Given the description of an element on the screen output the (x, y) to click on. 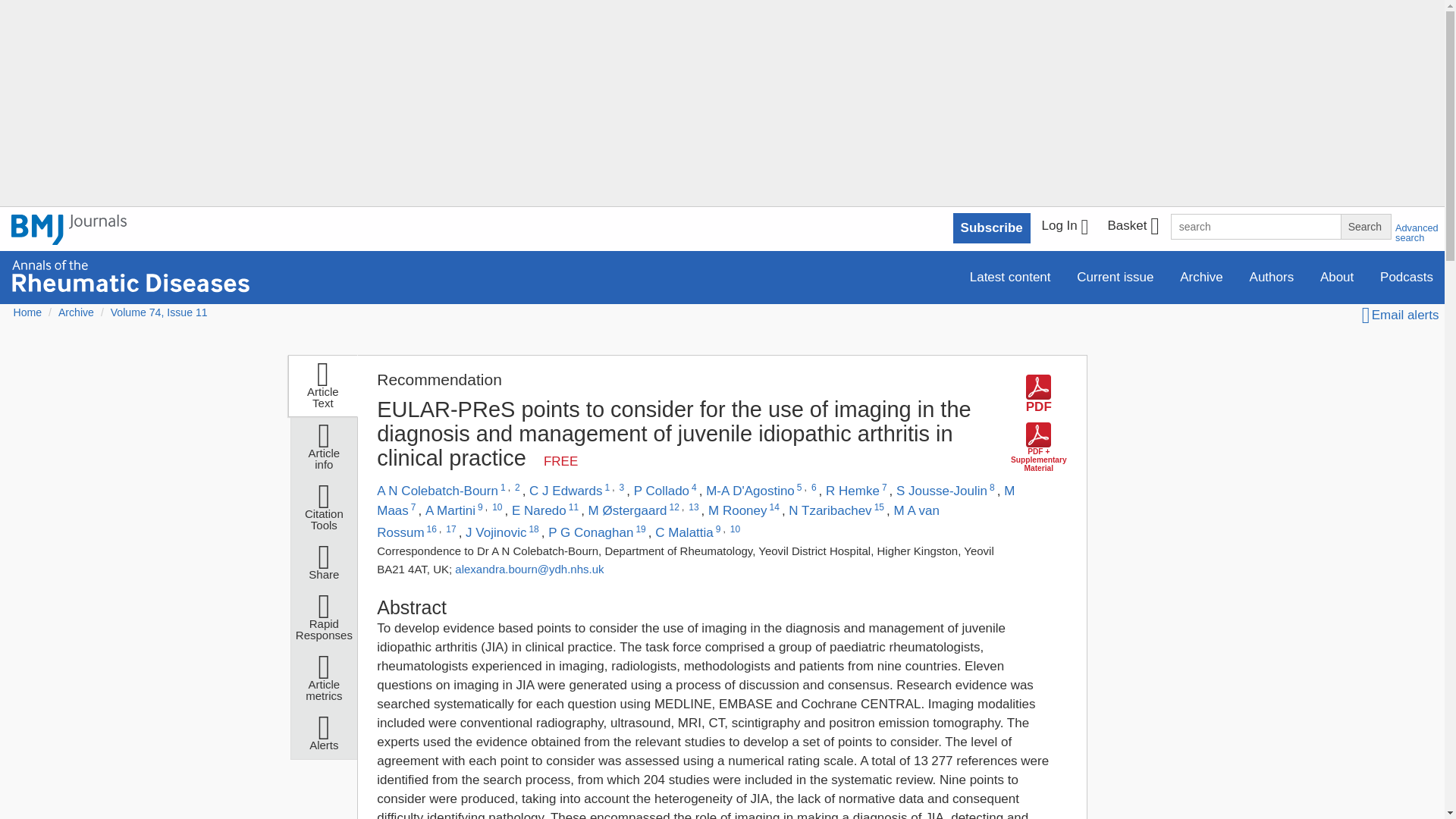
BMJ Journals (68, 237)
BMJ Journals (68, 229)
Search (1364, 226)
About (1336, 276)
Basket (1132, 228)
You have access (560, 461)
Authors (1272, 276)
Advanced search (1416, 232)
